Given the description of an element on the screen output the (x, y) to click on. 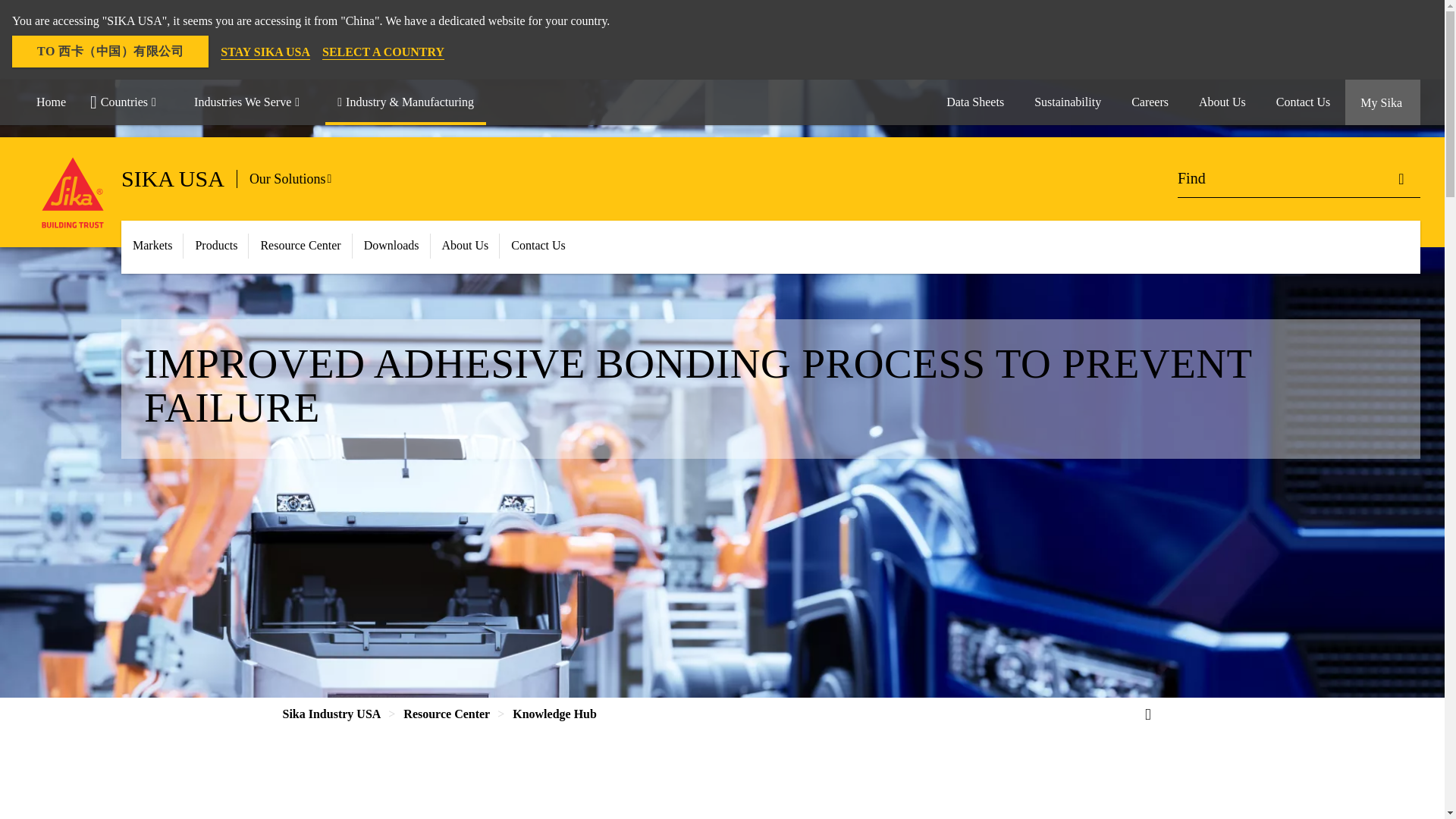
SELECT A COUNTRY (382, 51)
About Us (1221, 102)
Countries (130, 102)
My Sika  (1383, 102)
Data Sheets (975, 102)
Sustainability (1067, 102)
Sika Logo (72, 192)
Industries We Serve (253, 102)
Our Solutions (295, 178)
STAY SIKA USA (265, 51)
Contact Us (1302, 102)
Home (51, 102)
Careers (1149, 102)
